Given the description of an element on the screen output the (x, y) to click on. 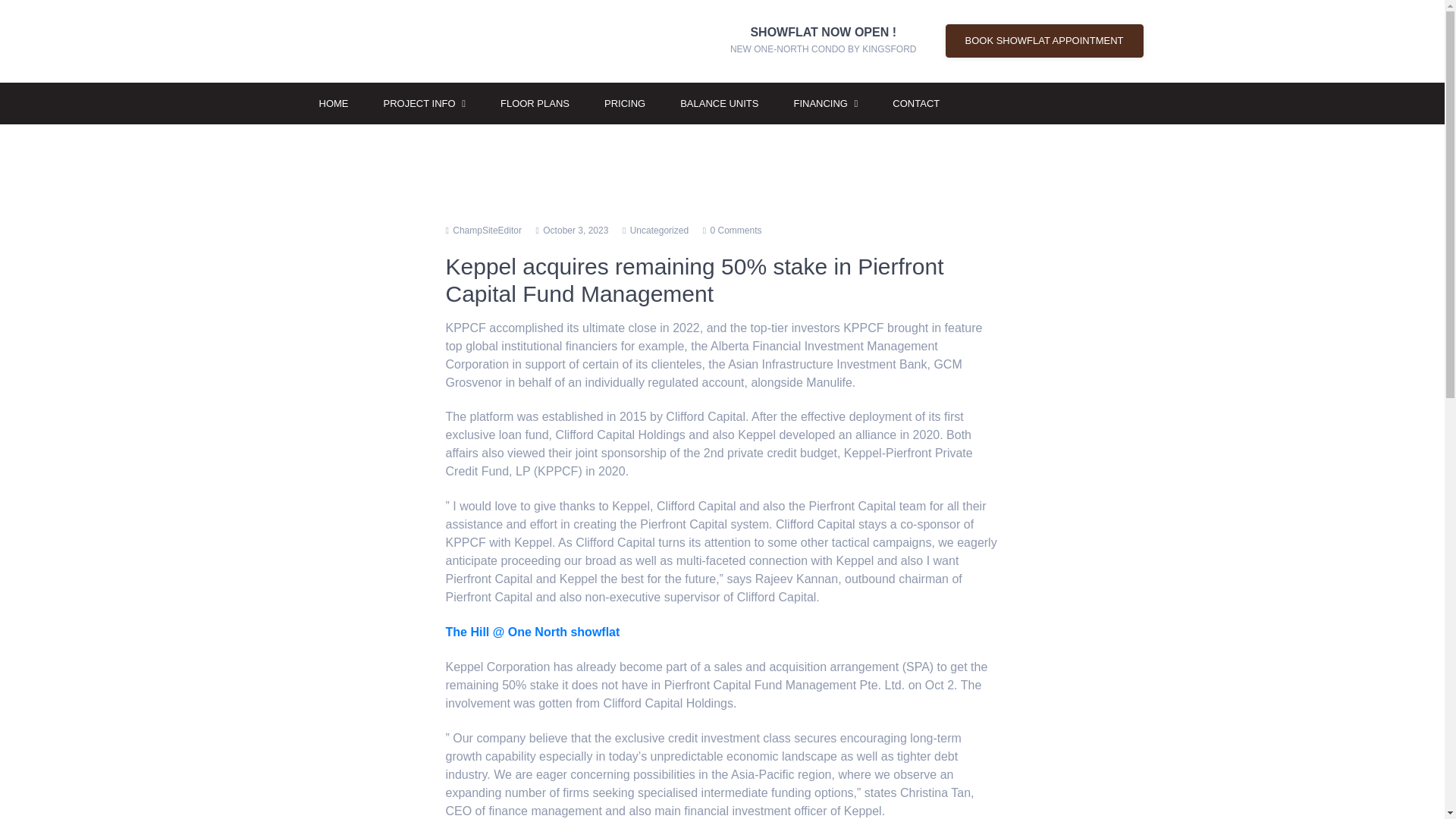
BOOK SHOWFLAT APPOINTMENT (1043, 40)
Floor Plans (823, 41)
HOME (534, 102)
0 Comments (333, 102)
BALANCE UNITS (735, 230)
Balance Units (719, 102)
Uncategorized (719, 102)
PROJECT INFO (659, 230)
PRICING (423, 102)
